Given the description of an element on the screen output the (x, y) to click on. 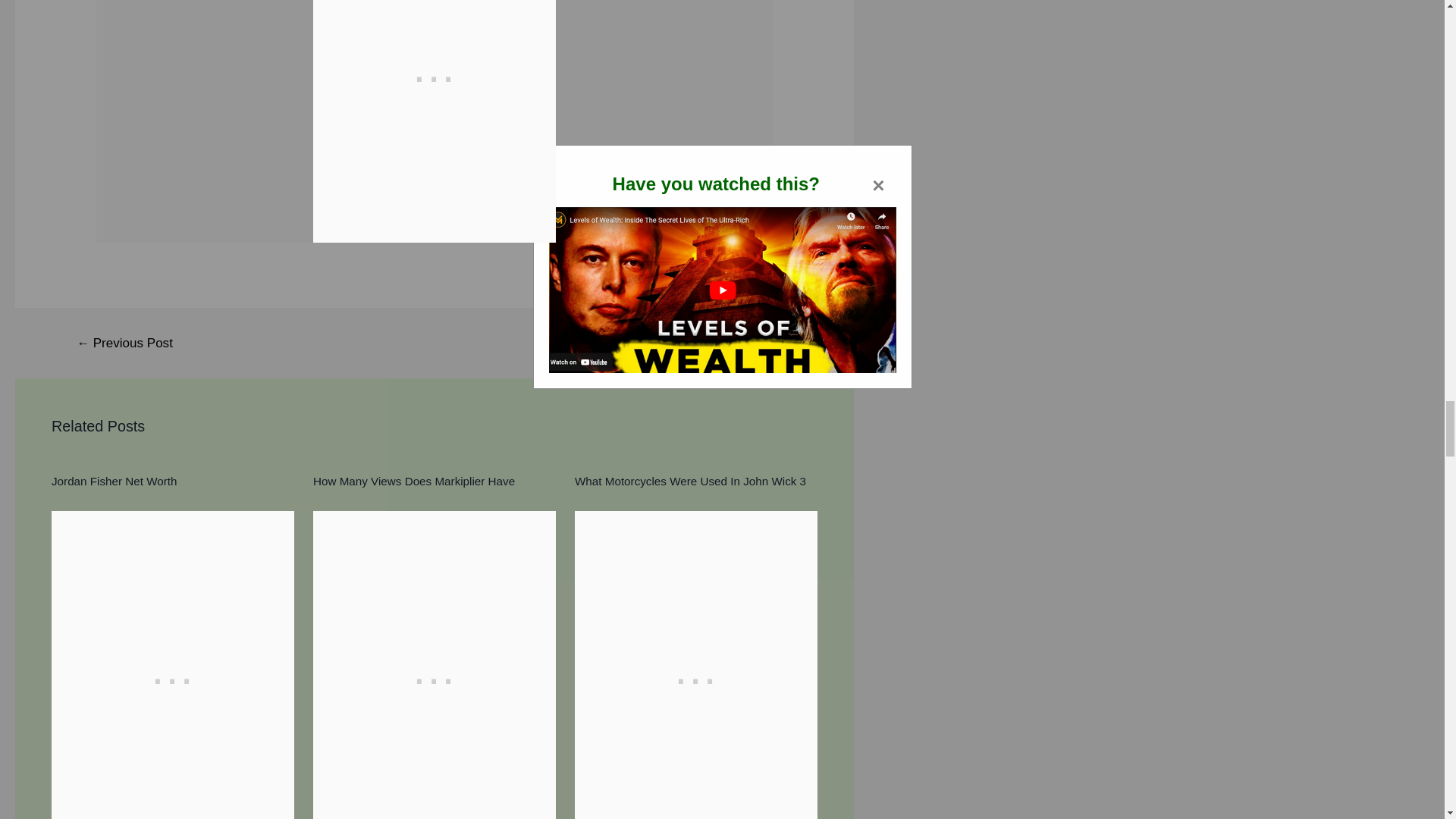
Jordan Fisher Net Worth (113, 481)
